Given the description of an element on the screen output the (x, y) to click on. 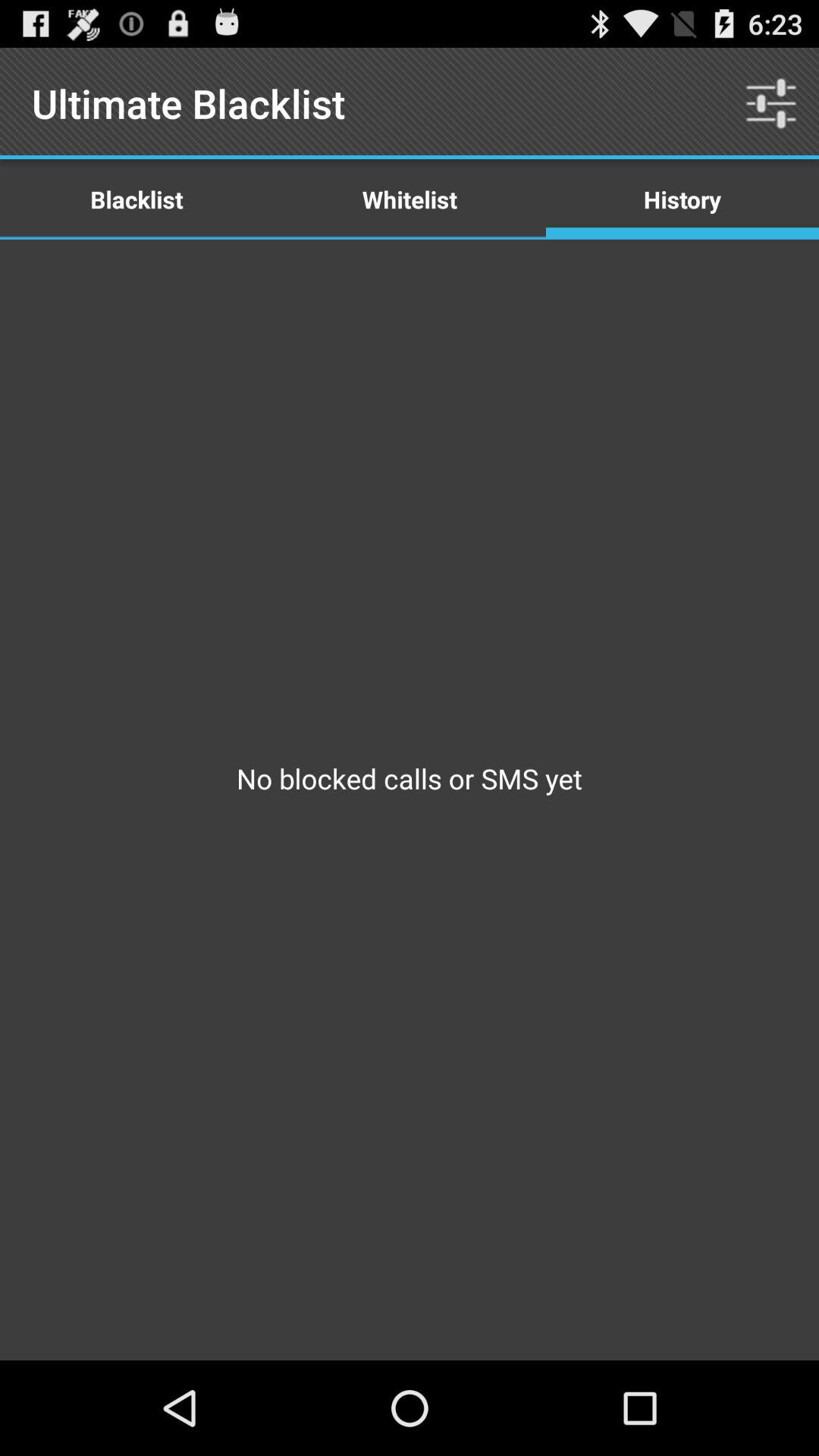
press icon above the history (771, 103)
